Given the description of an element on the screen output the (x, y) to click on. 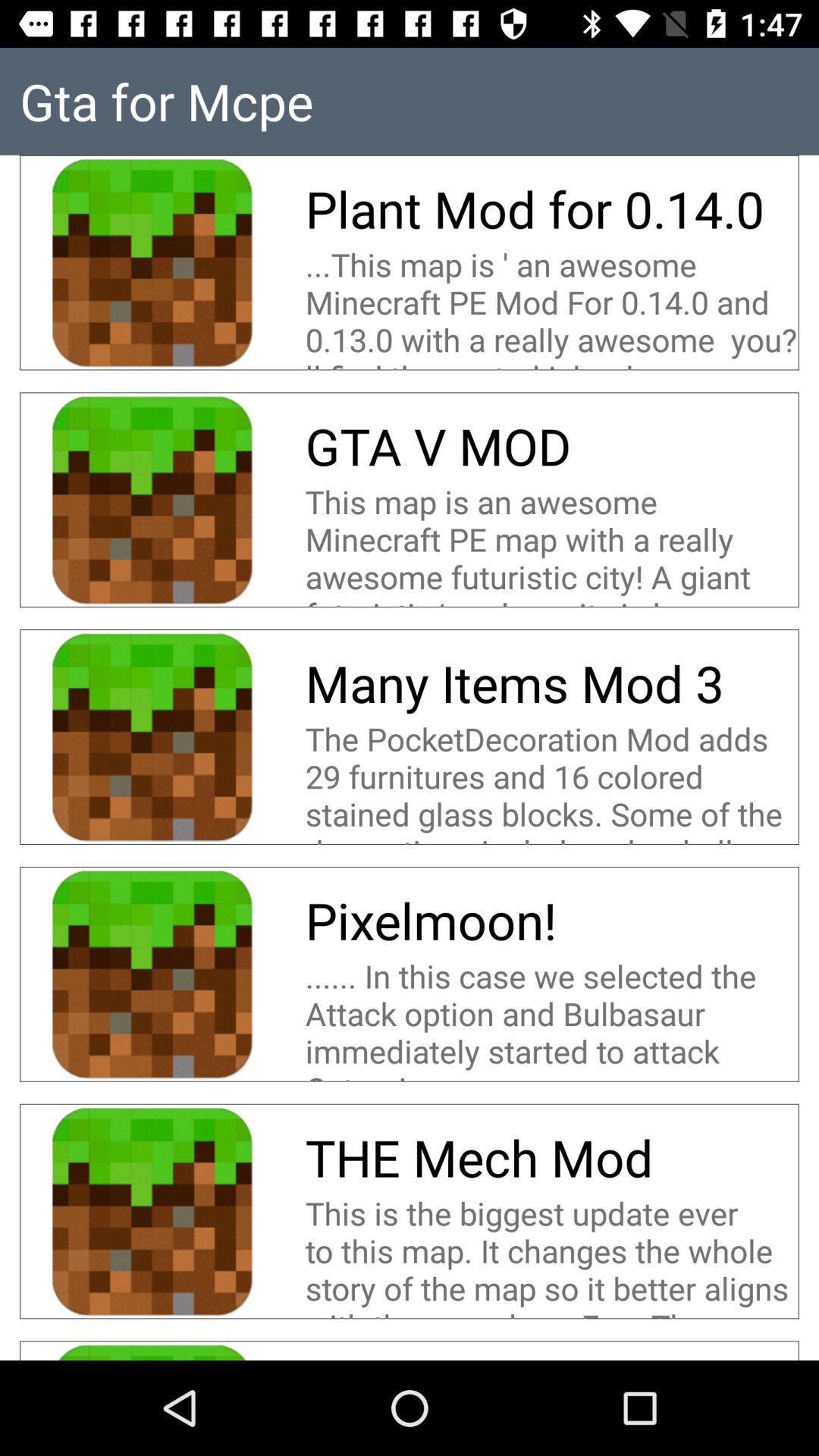
turn off item below the this map is app (520, 683)
